Given the description of an element on the screen output the (x, y) to click on. 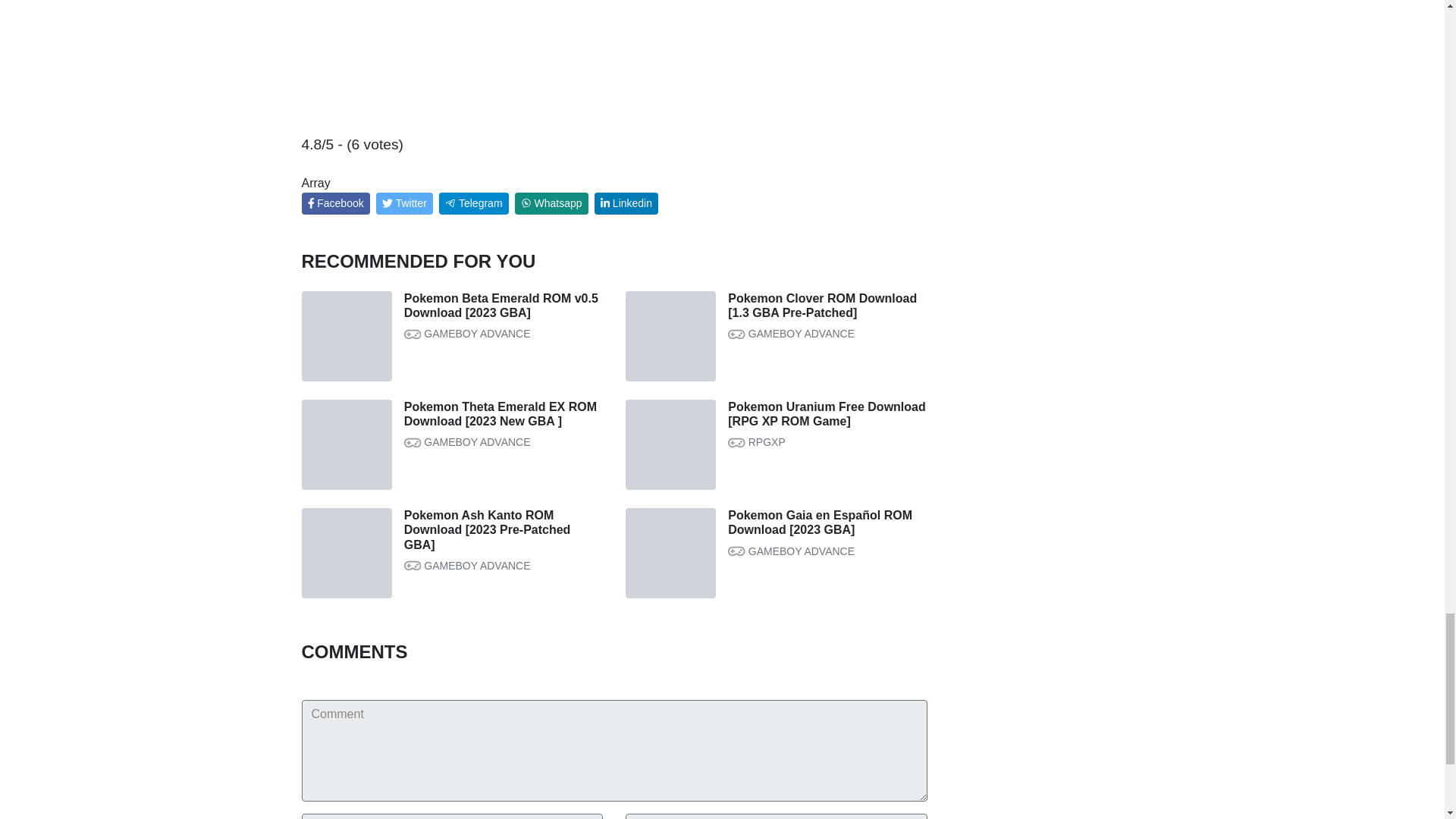
Facebook (335, 203)
Linkedin (626, 203)
Telegram (473, 203)
Twitter (403, 203)
Whatsapp (551, 203)
